Given the description of an element on the screen output the (x, y) to click on. 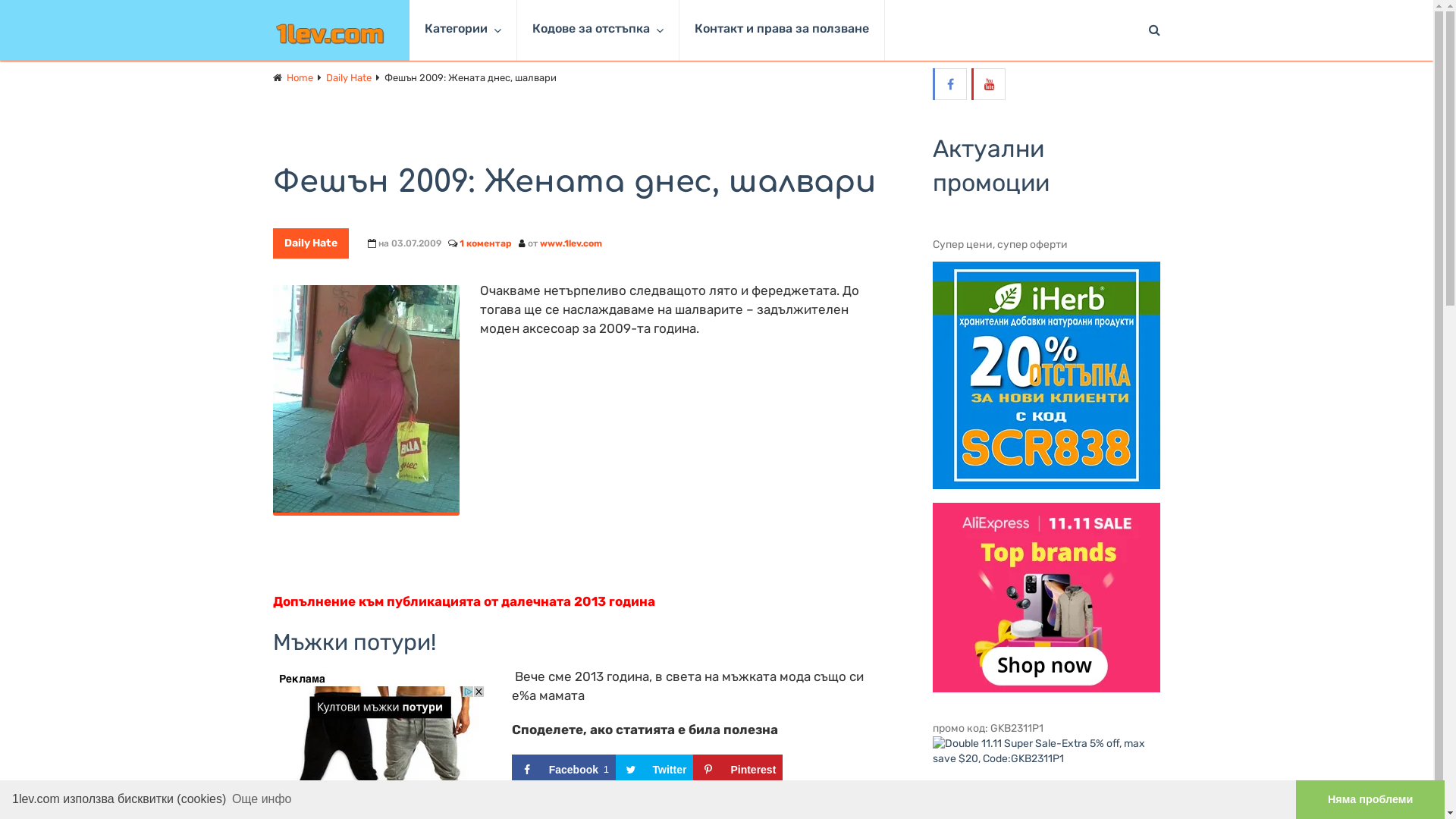
www.1lev.com Element type: text (570, 243)
Daily Hate Element type: text (348, 77)
Facebook
1 Element type: text (563, 769)
Home Element type: text (299, 77)
Twitter Element type: text (654, 769)
Facebook Element type: hover (950, 84)
shalvari Element type: hover (366, 400)
Pinterest Element type: text (737, 769)
Daily Hate Element type: text (310, 243)
YouTube Element type: hover (989, 84)
